Given the description of an element on the screen output the (x, y) to click on. 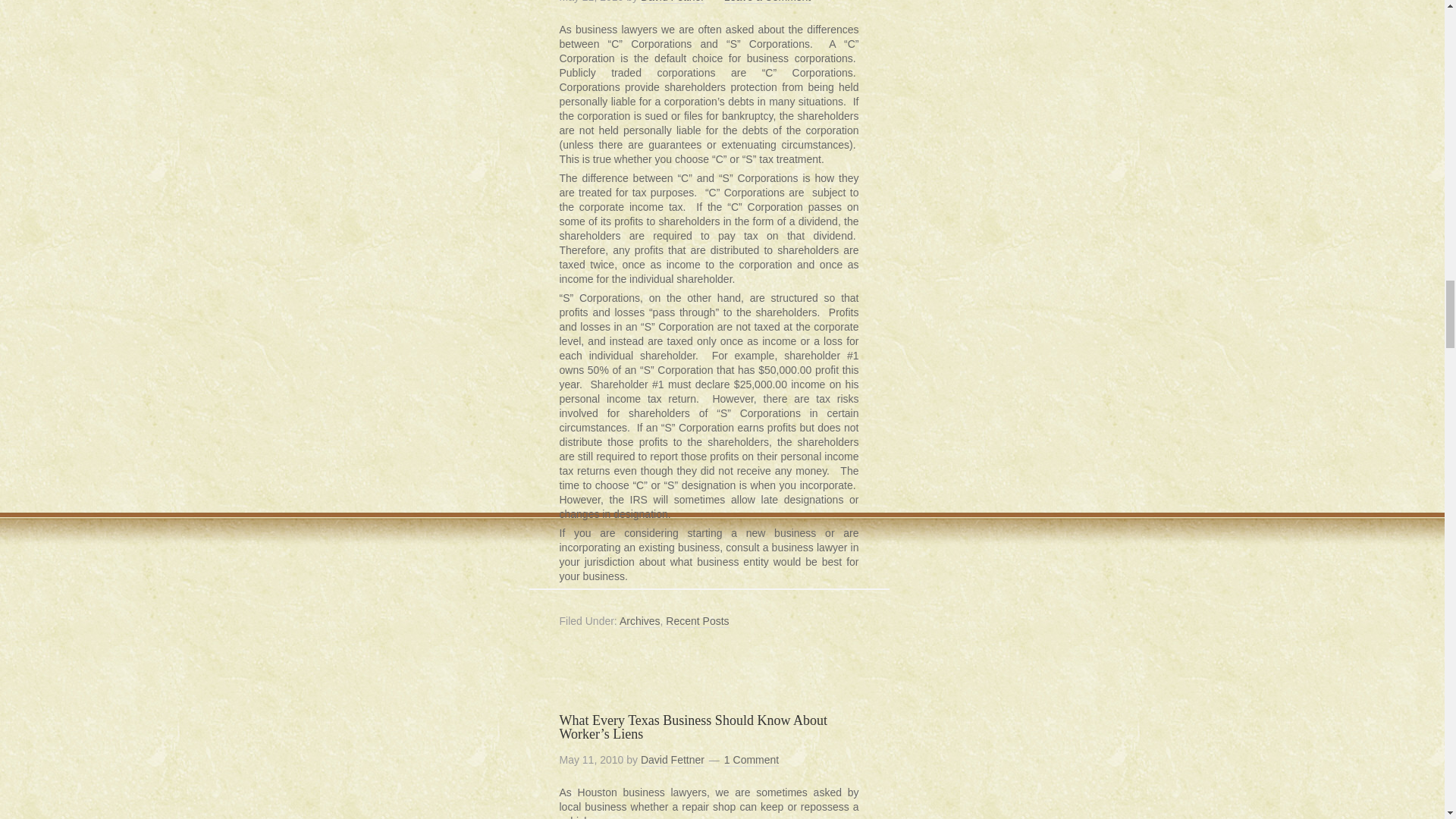
Archives (640, 621)
1 Comment (750, 759)
David Fettner (672, 759)
Leave a Comment (766, 2)
Recent Posts (697, 621)
David Fettner (672, 2)
